Given the description of an element on the screen output the (x, y) to click on. 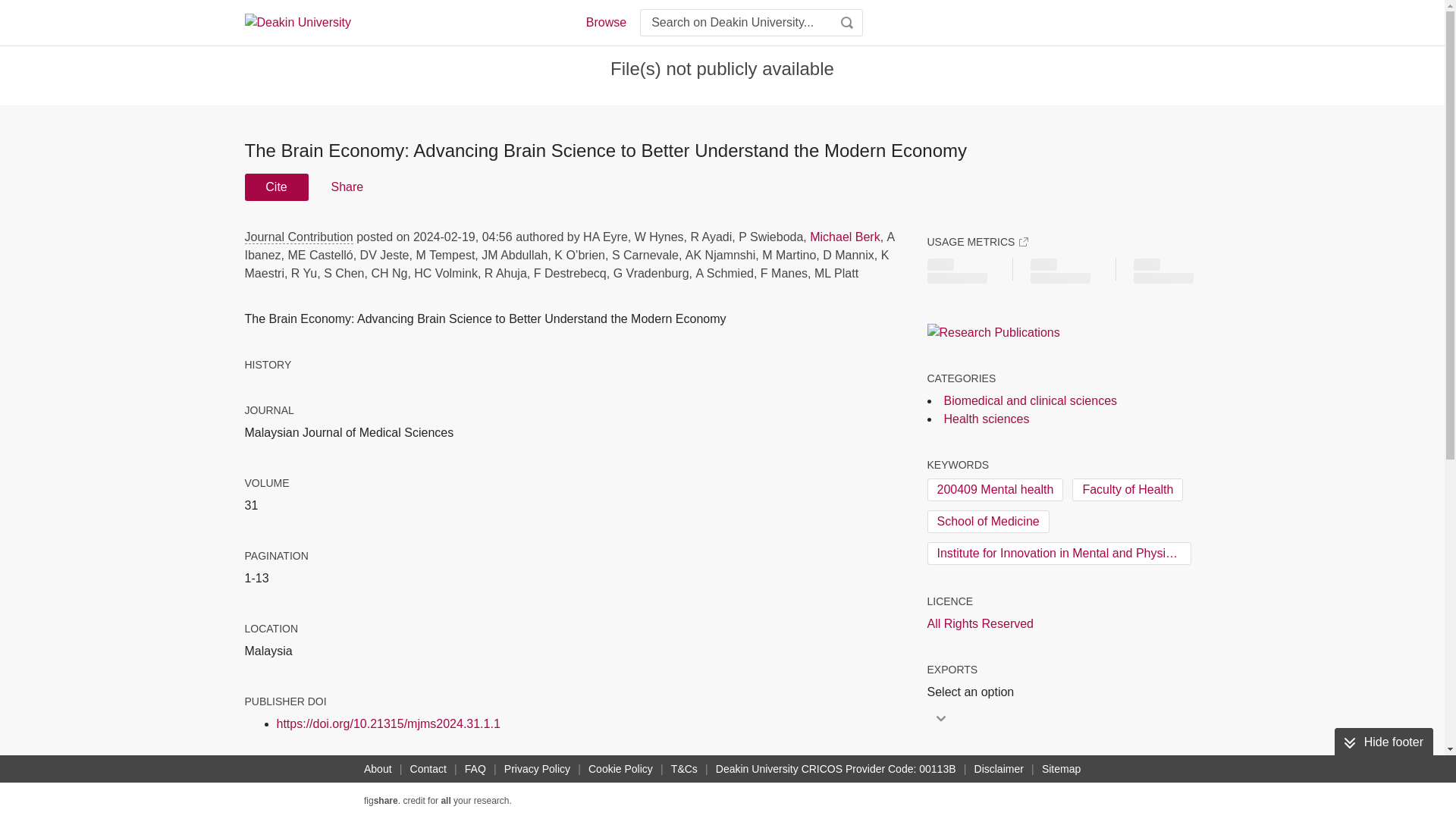
Hide footer (1383, 742)
USAGE METRICS (976, 241)
About (377, 769)
FAQ (475, 769)
Michael Berk (844, 236)
Health sciences (986, 418)
Deakin University CRICOS Provider Code: 00113B (835, 769)
Contact (428, 769)
Faculty of Health (1126, 489)
Select an option (974, 692)
